Given the description of an element on the screen output the (x, y) to click on. 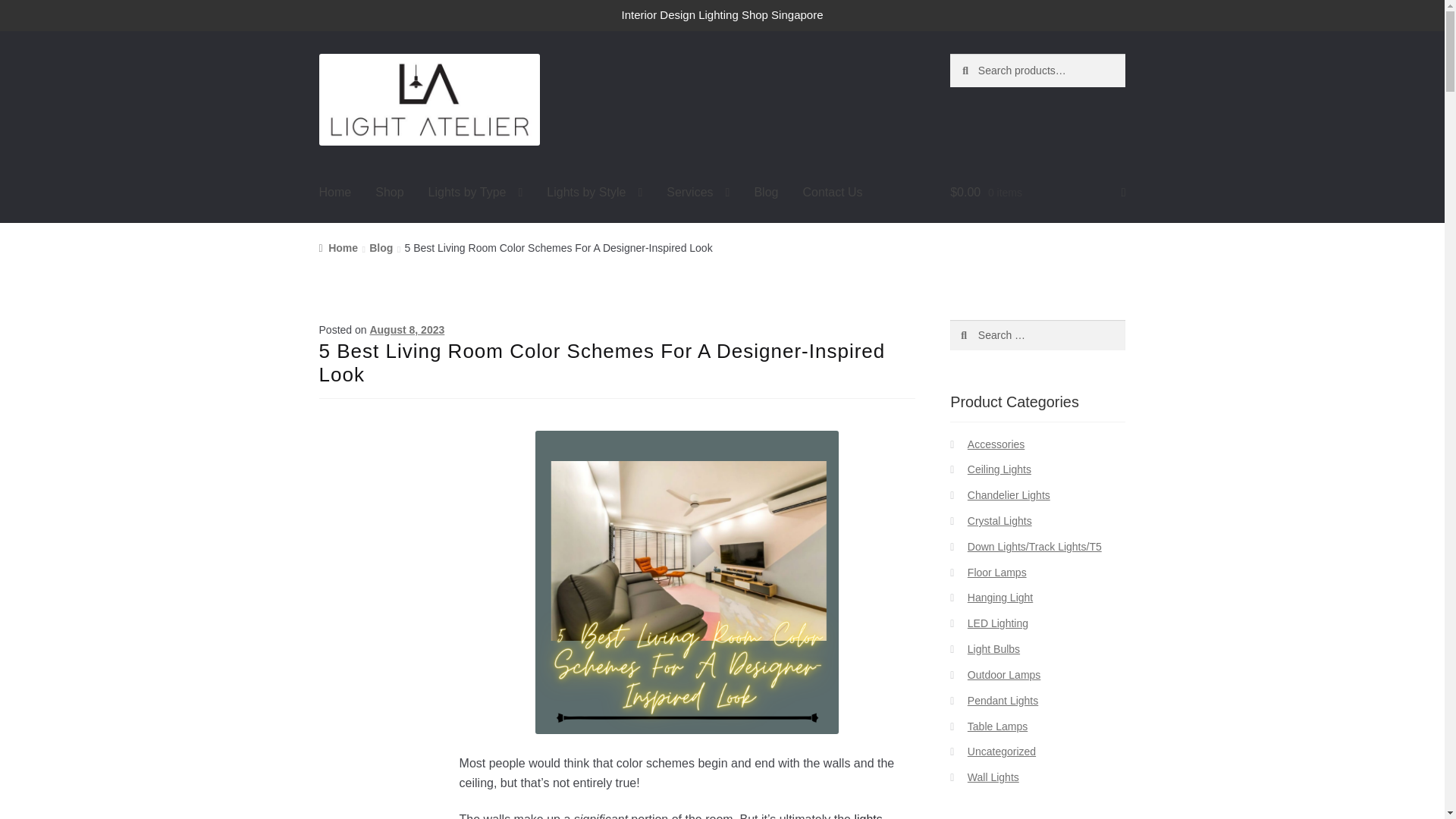
Lights by Type (475, 191)
Contact Us (832, 191)
View your shopping cart (1037, 191)
Home (335, 191)
Services (697, 191)
Services (697, 191)
Lights by Style (593, 191)
